Given the description of an element on the screen output the (x, y) to click on. 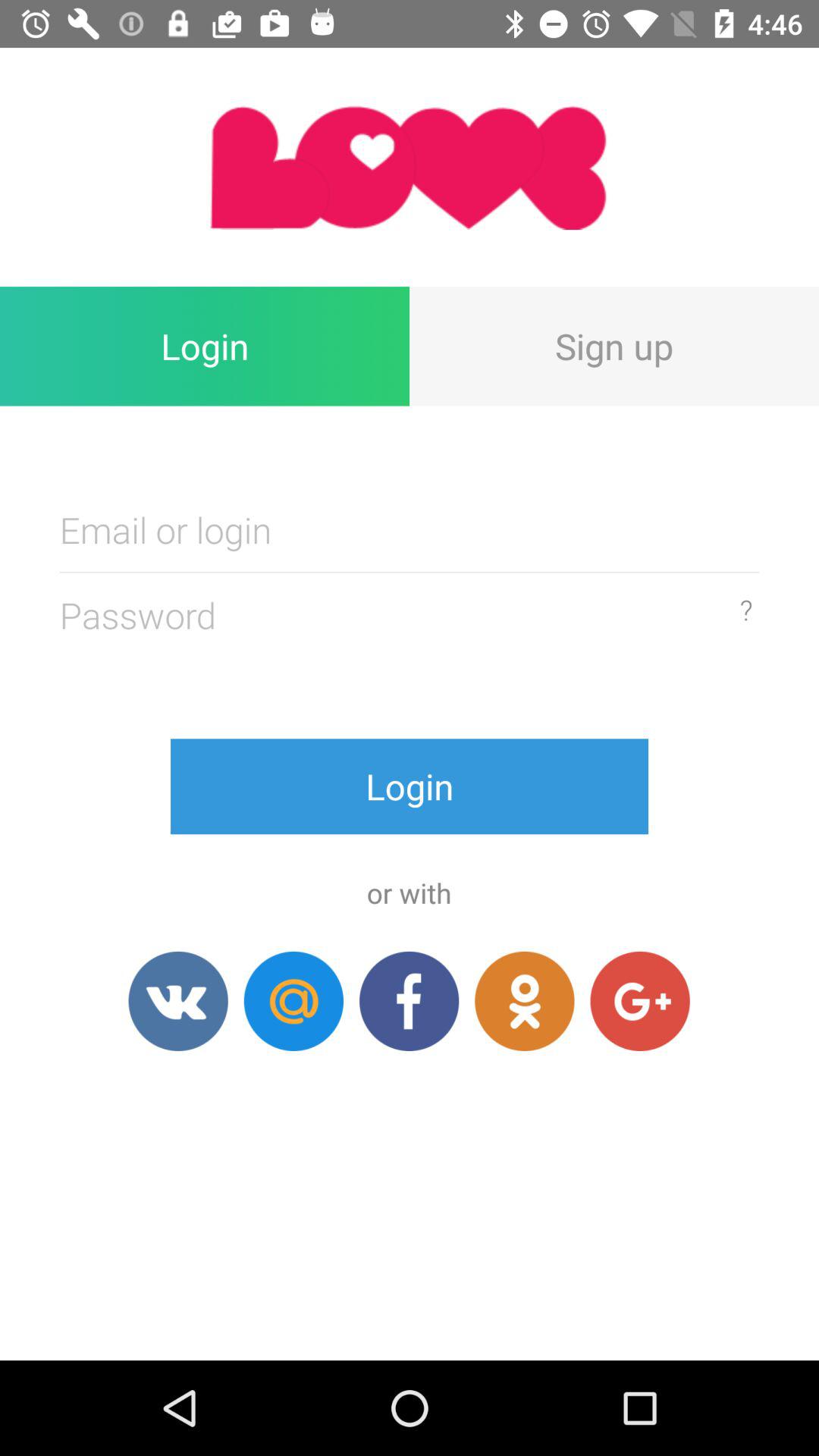
dating app for free dating chat love.ru (178, 1001)
